Given the description of an element on the screen output the (x, y) to click on. 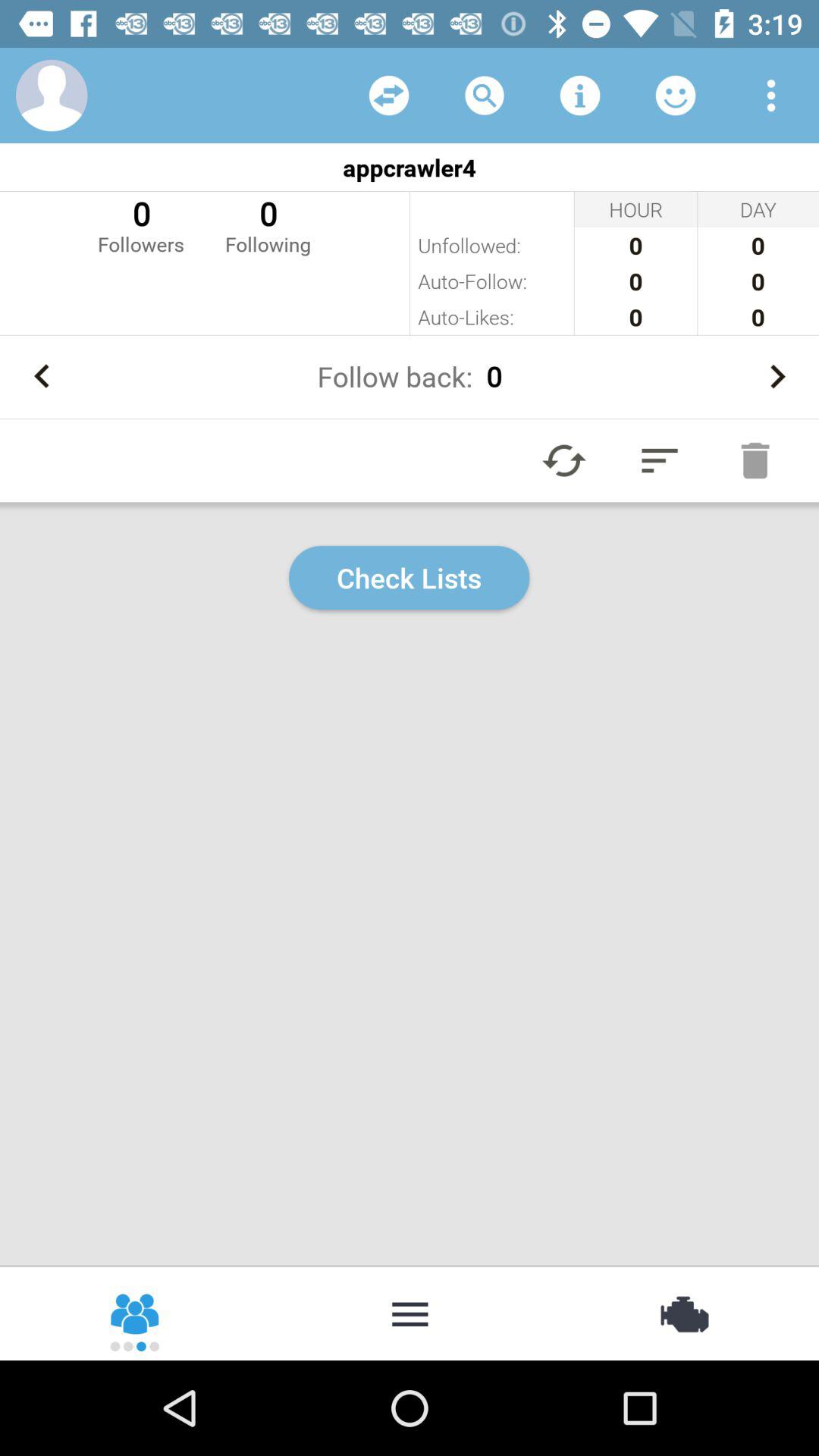
update page (563, 460)
